Given the description of an element on the screen output the (x, y) to click on. 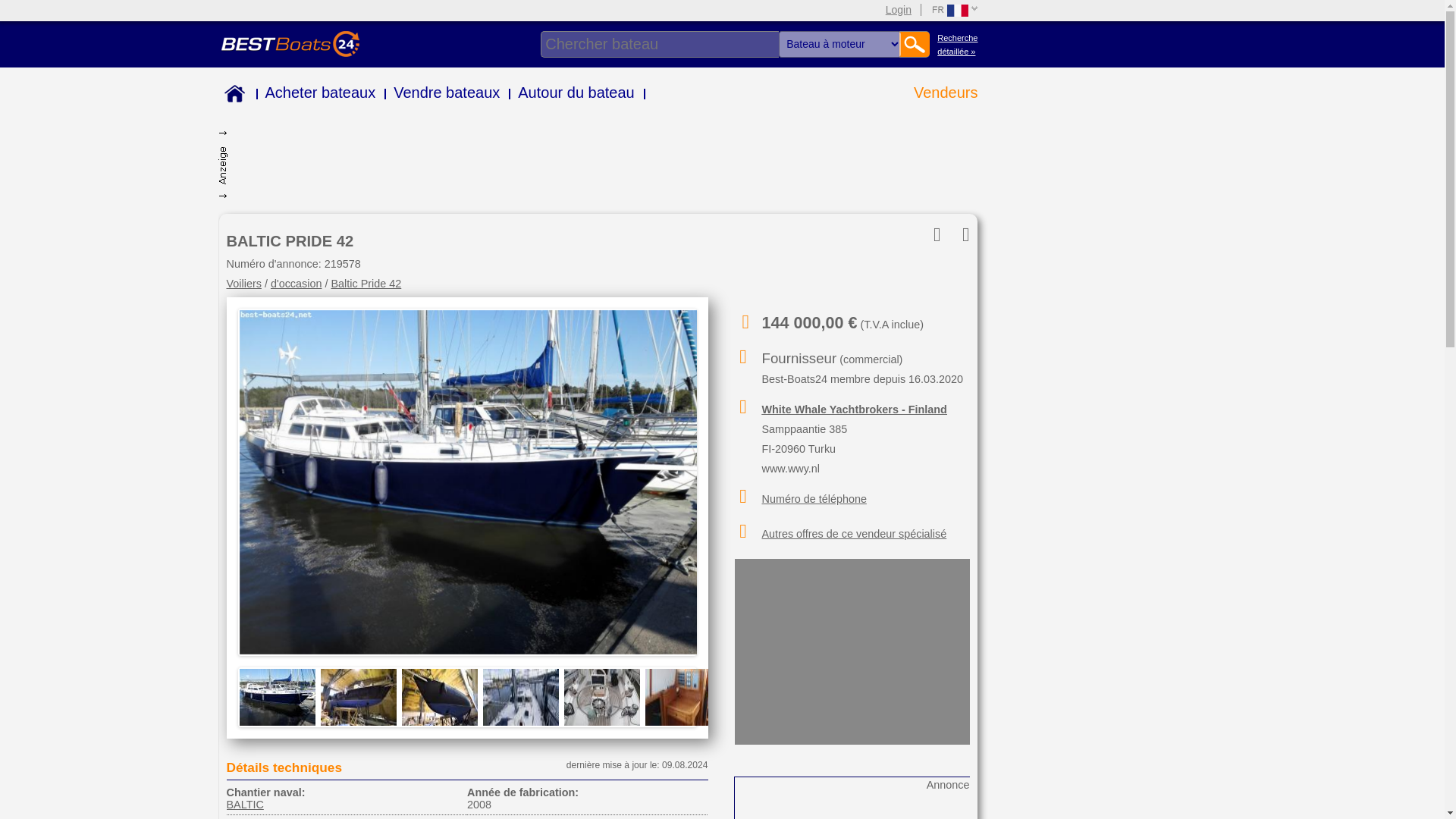
Partager annonce (927, 234)
Go! (914, 44)
Home (231, 96)
Autour du bateau (576, 92)
Autour du bateau (576, 92)
White Whale Yachtbrokers - Finland (853, 409)
Vendeurs (945, 92)
Voiliers (242, 283)
d'occasion (295, 283)
Acheter bateaux (320, 92)
